Given the description of an element on the screen output the (x, y) to click on. 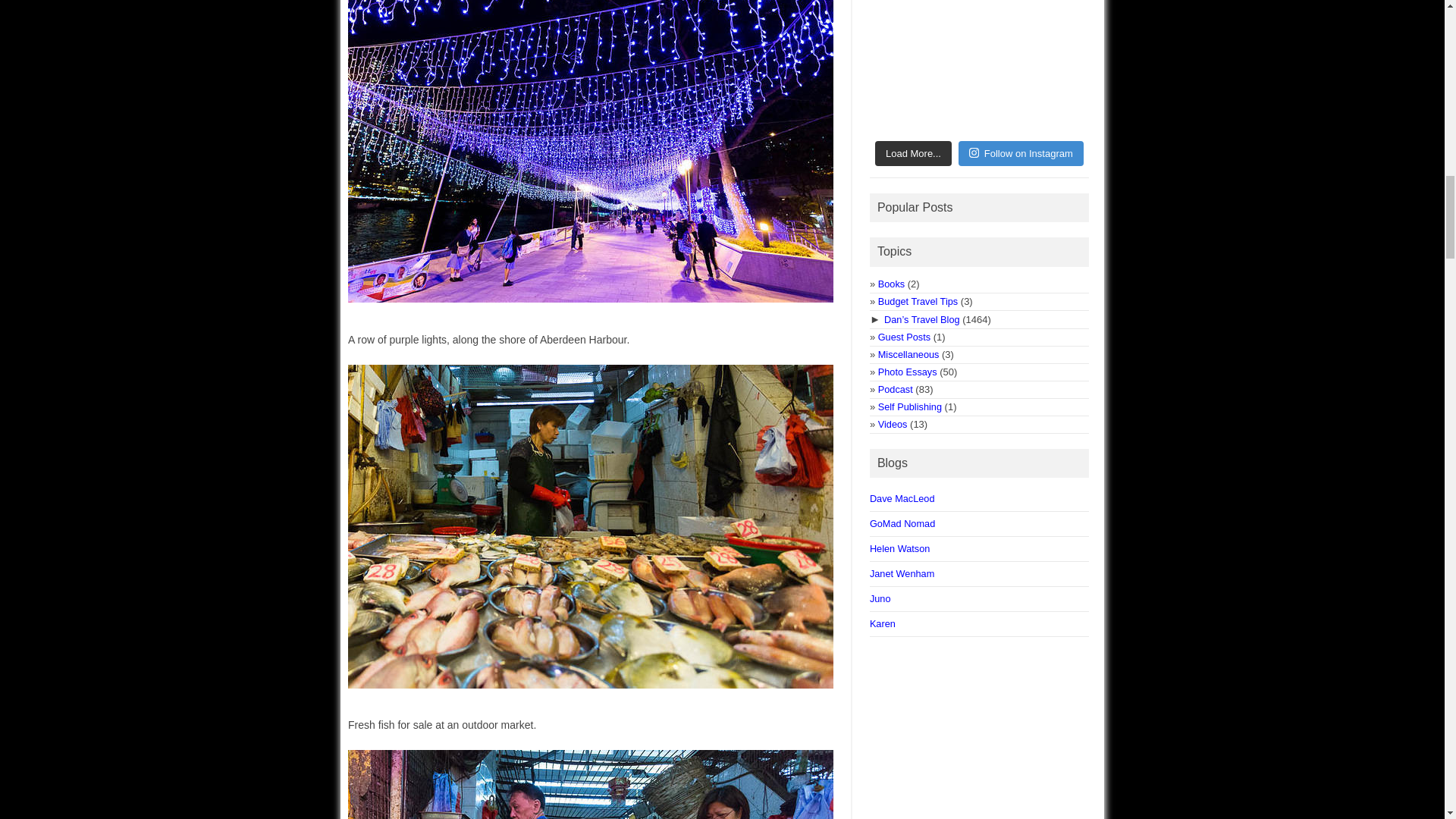
How to travel the world cheaply. (917, 301)
Updates on the books Dan is writing and publishing. (890, 283)
Read about Dan's travels around the world. (921, 319)
